Given the description of an element on the screen output the (x, y) to click on. 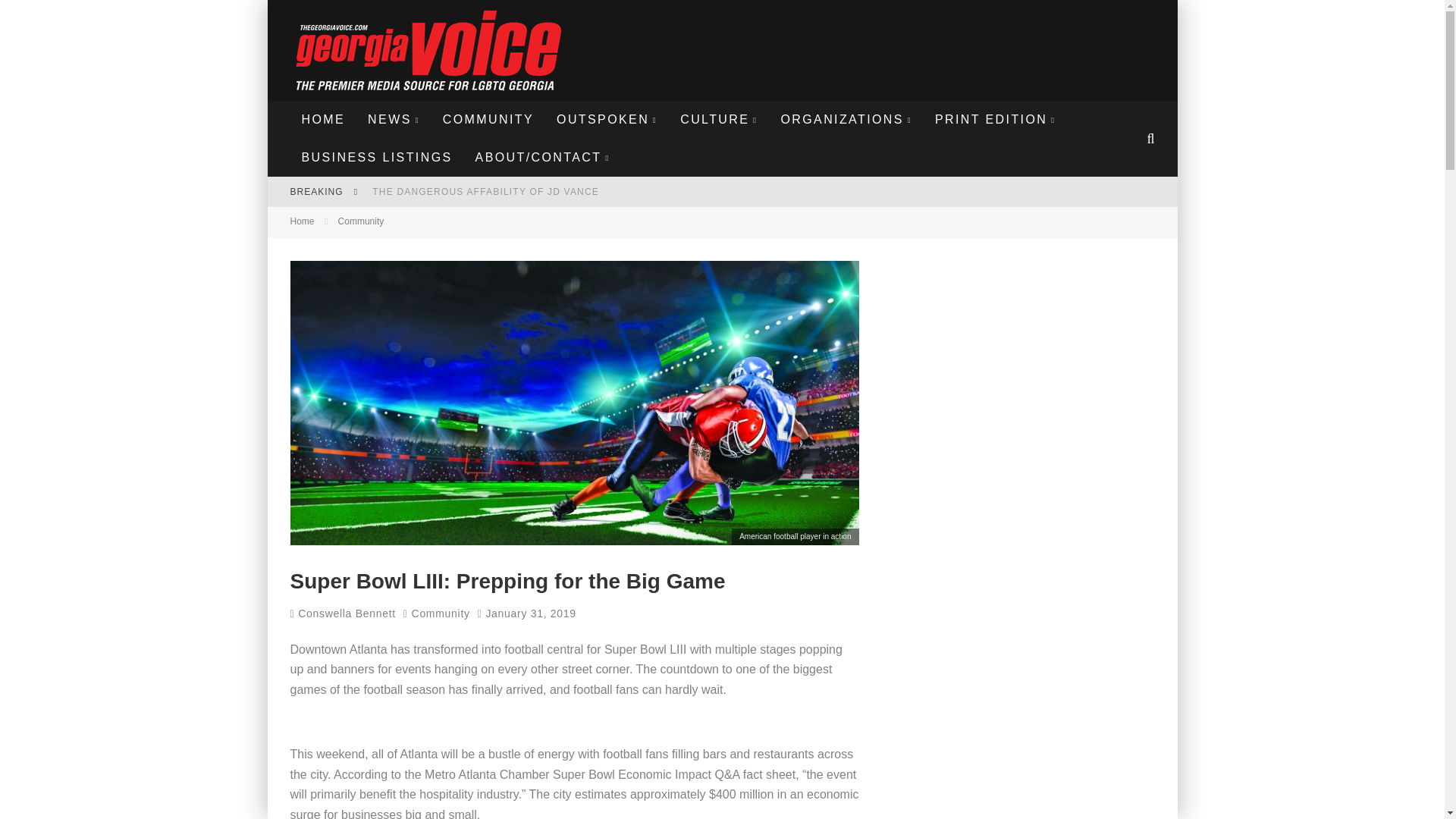
HOME (322, 119)
The Dangerous Affability of JD Vance (485, 191)
OUTSPOKEN (606, 119)
CULTURE (718, 119)
COMMUNITY (487, 119)
NEWS (393, 119)
